Given the description of an element on the screen output the (x, y) to click on. 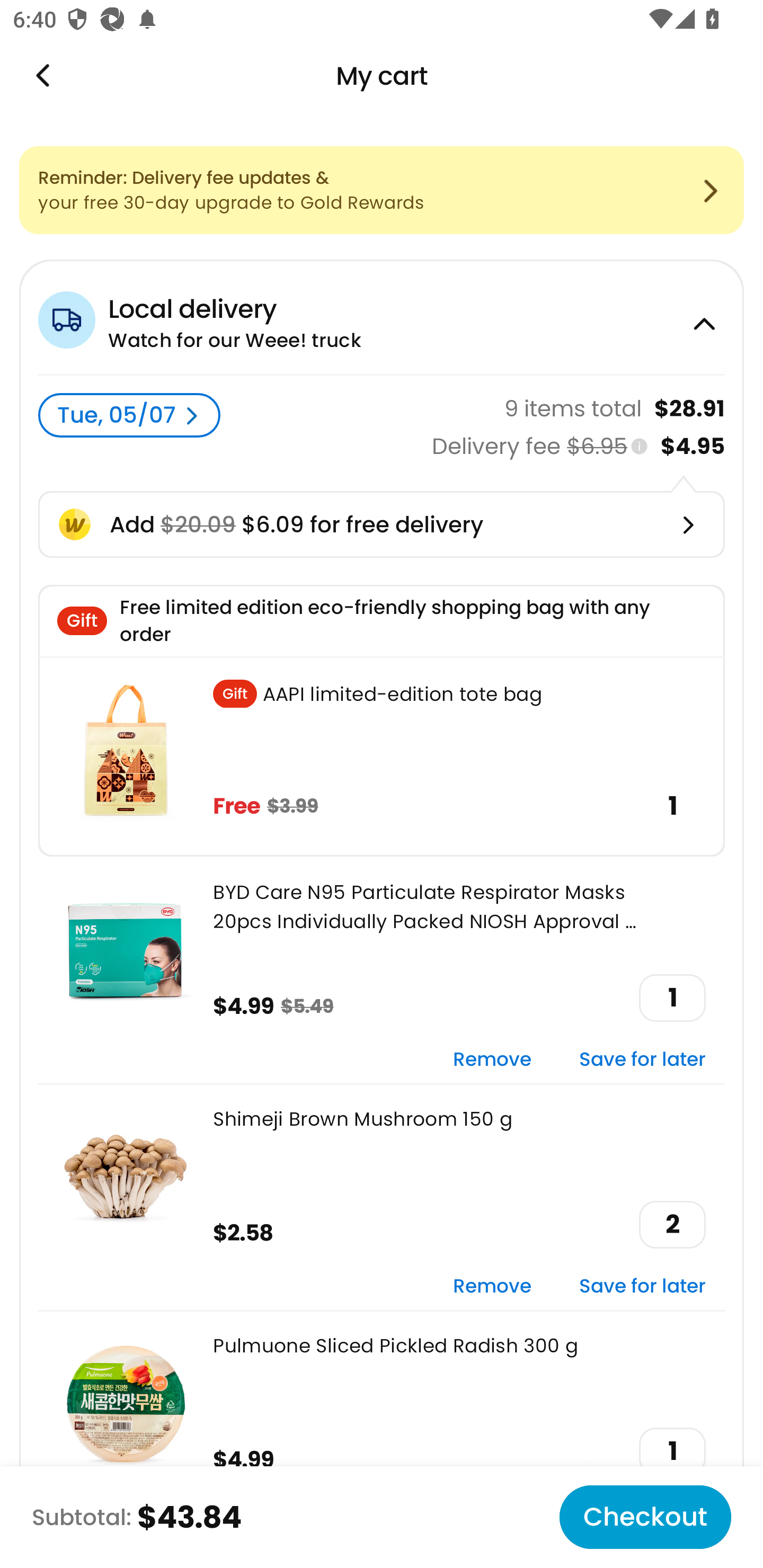
Local delivery Watch for our Weee! truck (381, 317)
Tue, 05/07 (129, 415)
Add $20.09 $6.09 for free delivery (381, 524)
. AAPI limited-edition tote bag Free $3.99 1 (381, 756)
1 (672, 997)
Remove (491, 1060)
Save for later (642, 1060)
2 (672, 1224)
Remove (491, 1286)
Save for later (642, 1286)
1 (672, 1450)
Checkout (644, 1516)
